Given the description of an element on the screen output the (x, y) to click on. 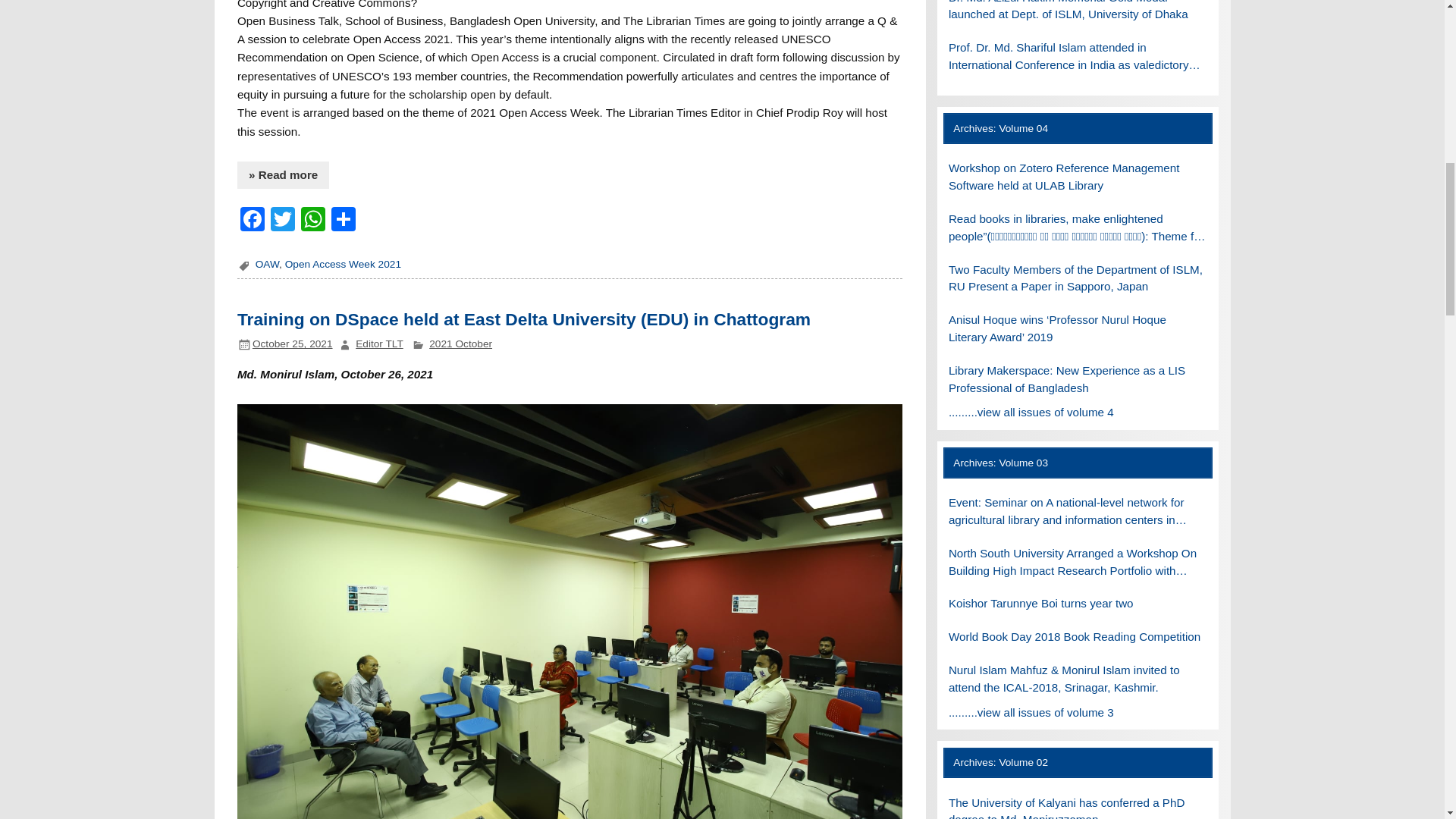
Twitter (282, 221)
WhatsApp (313, 221)
4:25 pm (292, 343)
View all posts by Editor TLT (379, 343)
Facebook (252, 221)
